Given the description of an element on the screen output the (x, y) to click on. 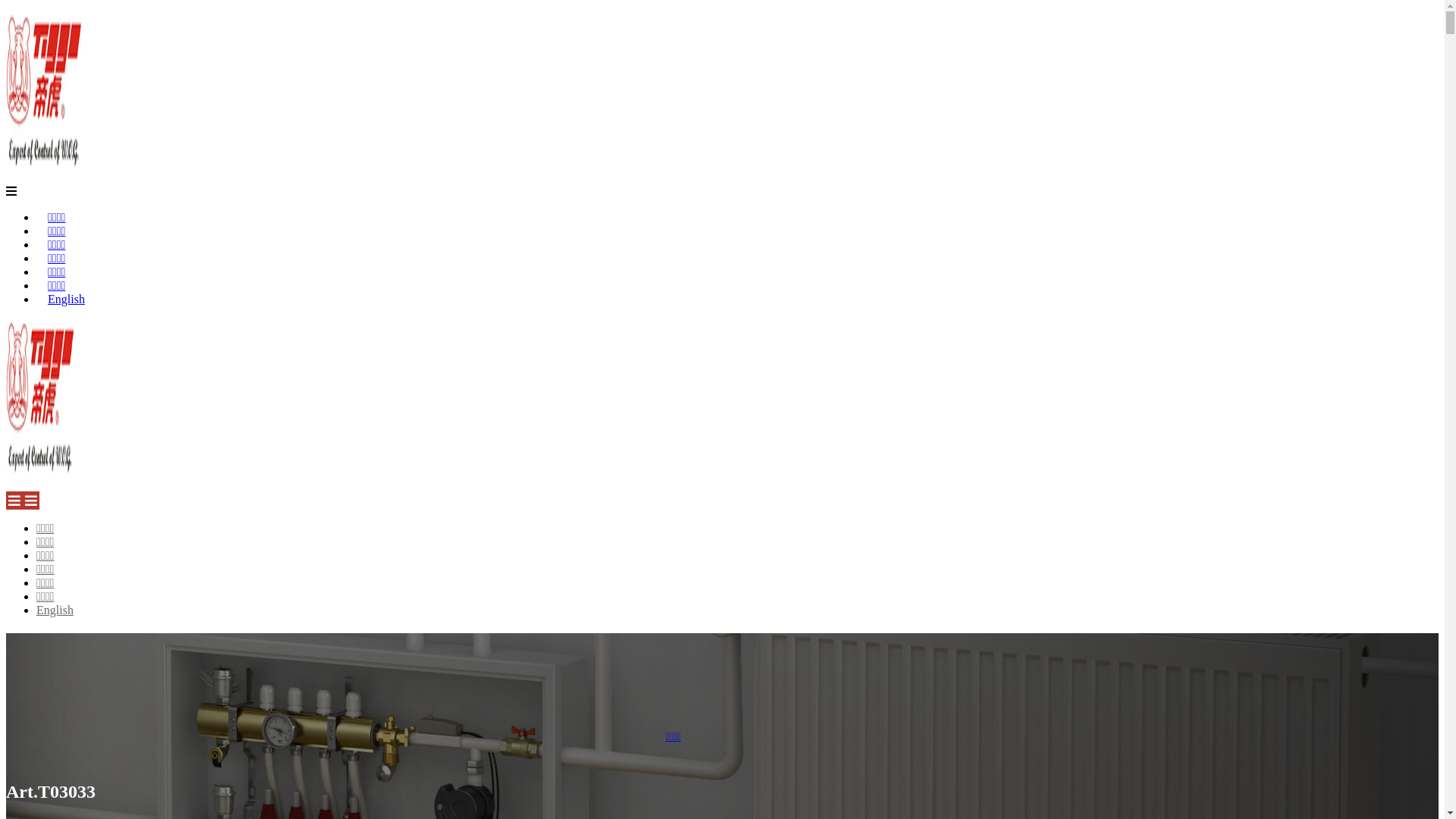
English Element type: text (66, 298)
English Element type: text (54, 609)
